Given the description of an element on the screen output the (x, y) to click on. 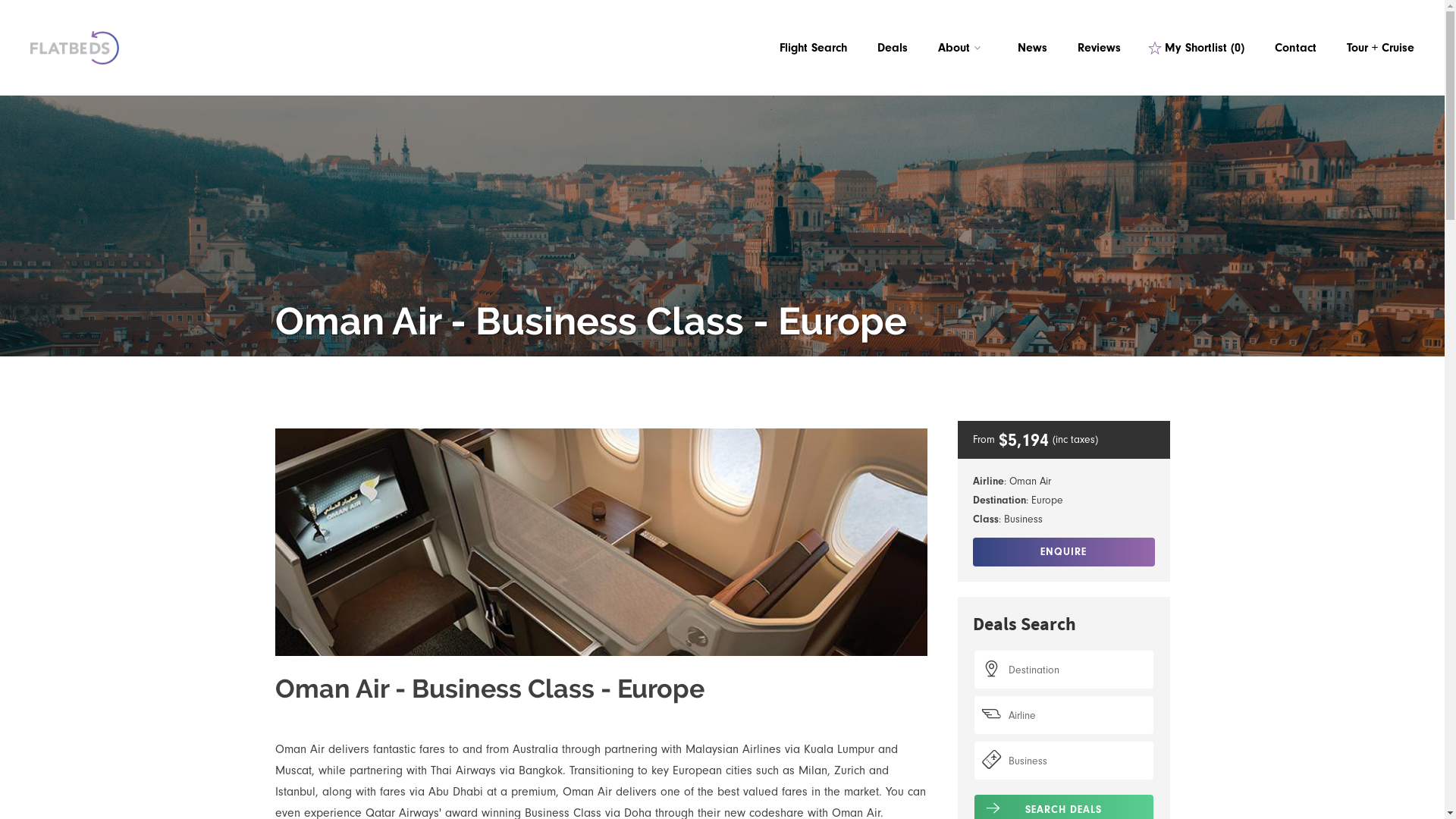
My Shortlist (0) Element type: text (1197, 47)
About Element type: text (962, 47)
Tour + Cruise Element type: text (1380, 47)
Deals Element type: text (892, 47)
Flight Search Element type: text (813, 47)
Contact Element type: text (1295, 47)
Reviews Element type: text (1098, 47)
ENQUIRE Element type: text (1063, 551)
News Element type: text (1032, 47)
